Given the description of an element on the screen output the (x, y) to click on. 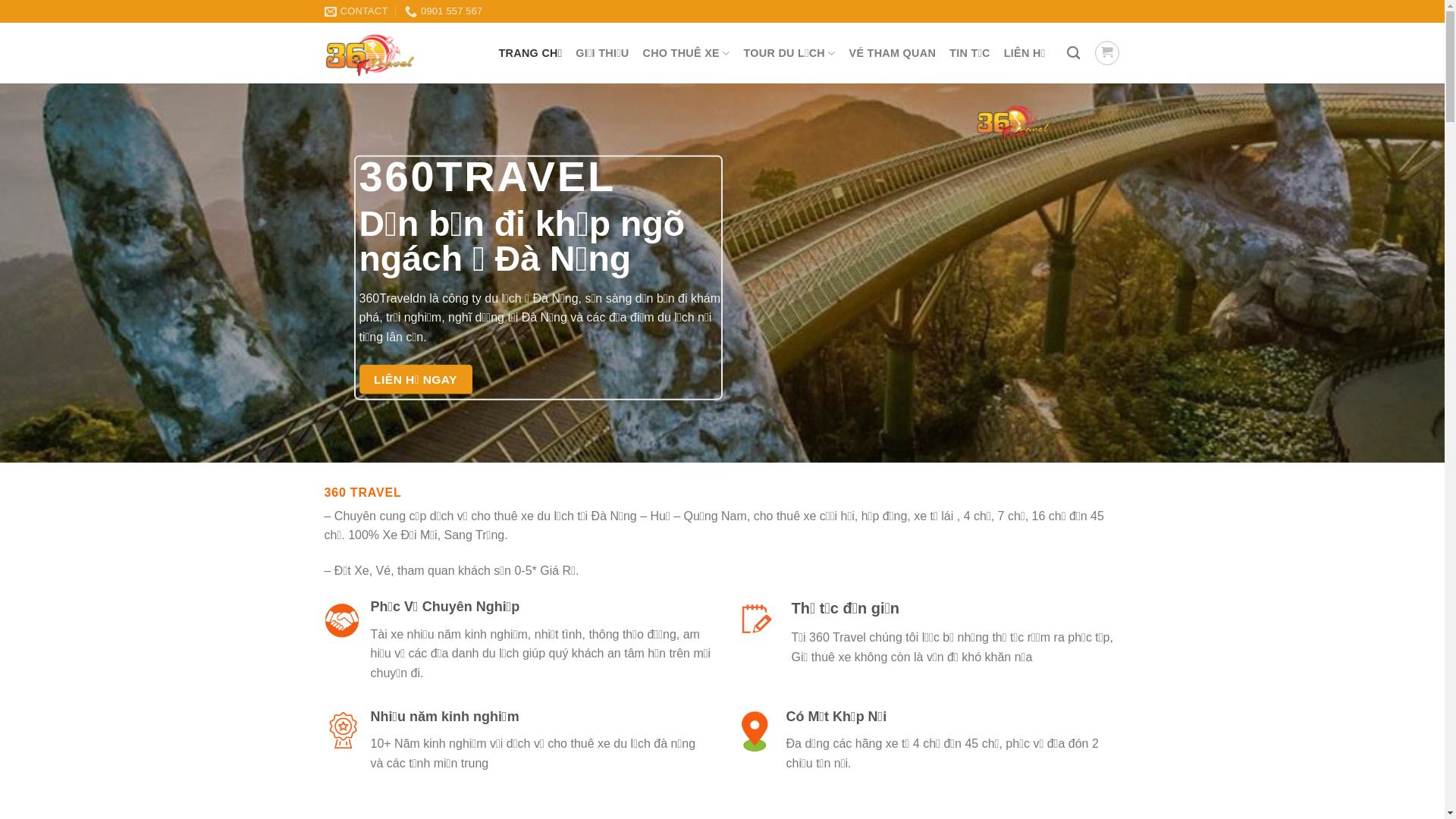
360 Travel - 360 Travel Element type: hover (400, 52)
CONTACT Element type: text (356, 11)
0901 557 567 Element type: text (443, 11)
